Given the description of an element on the screen output the (x, y) to click on. 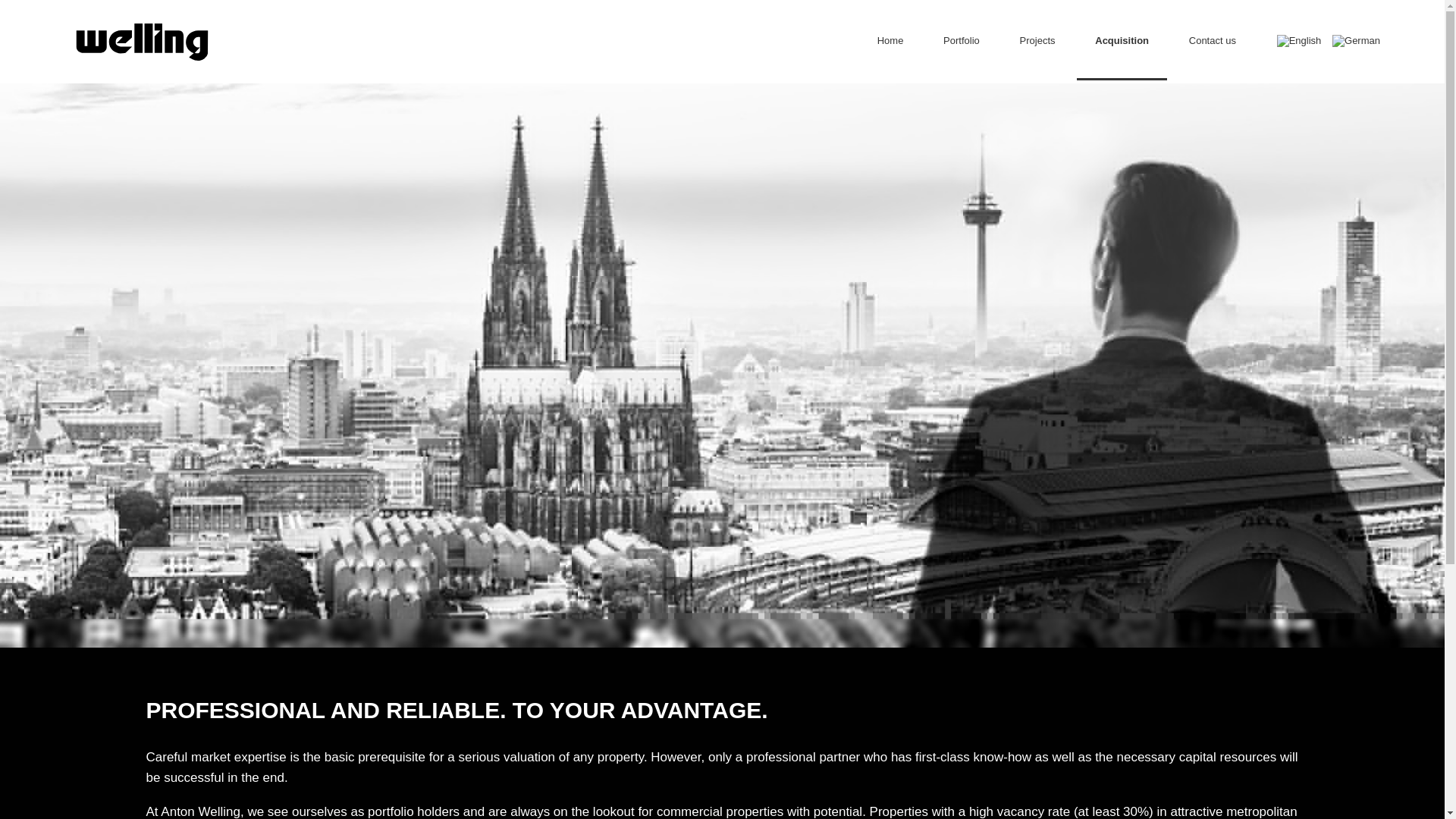
Contact us (1212, 40)
Home (890, 40)
Acquisition (1121, 40)
Projects (1037, 40)
Portfolio (961, 40)
